Given the description of an element on the screen output the (x, y) to click on. 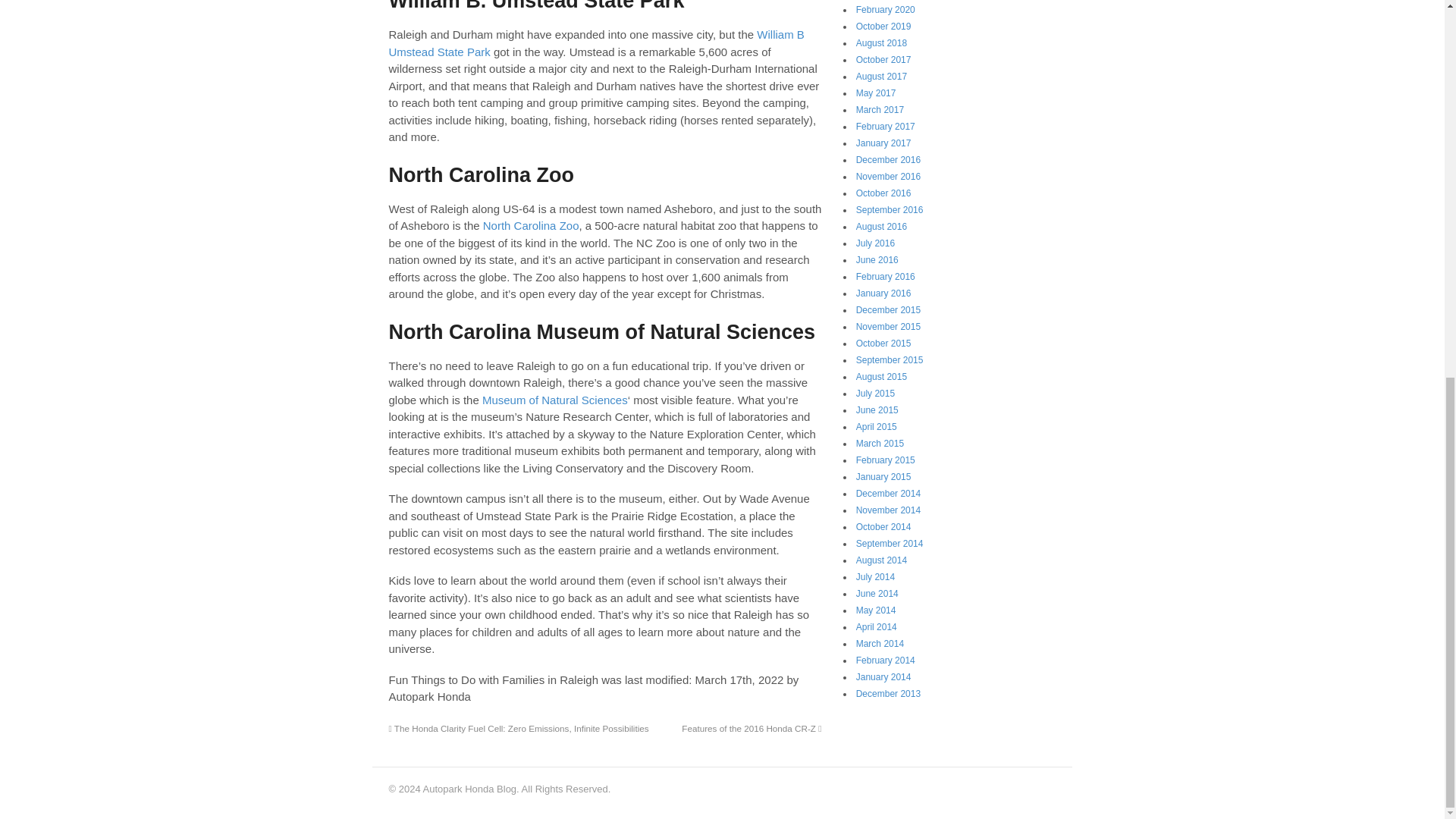
William B Umstead State Park (595, 42)
October 2019 (883, 26)
February 2020 (885, 9)
October 2017 (883, 59)
North Carolina Zoo (531, 225)
August 2018 (881, 42)
Museum of Natural Sciences (554, 399)
Features of the 2016 Honda CR-Z (751, 728)
